Given the description of an element on the screen output the (x, y) to click on. 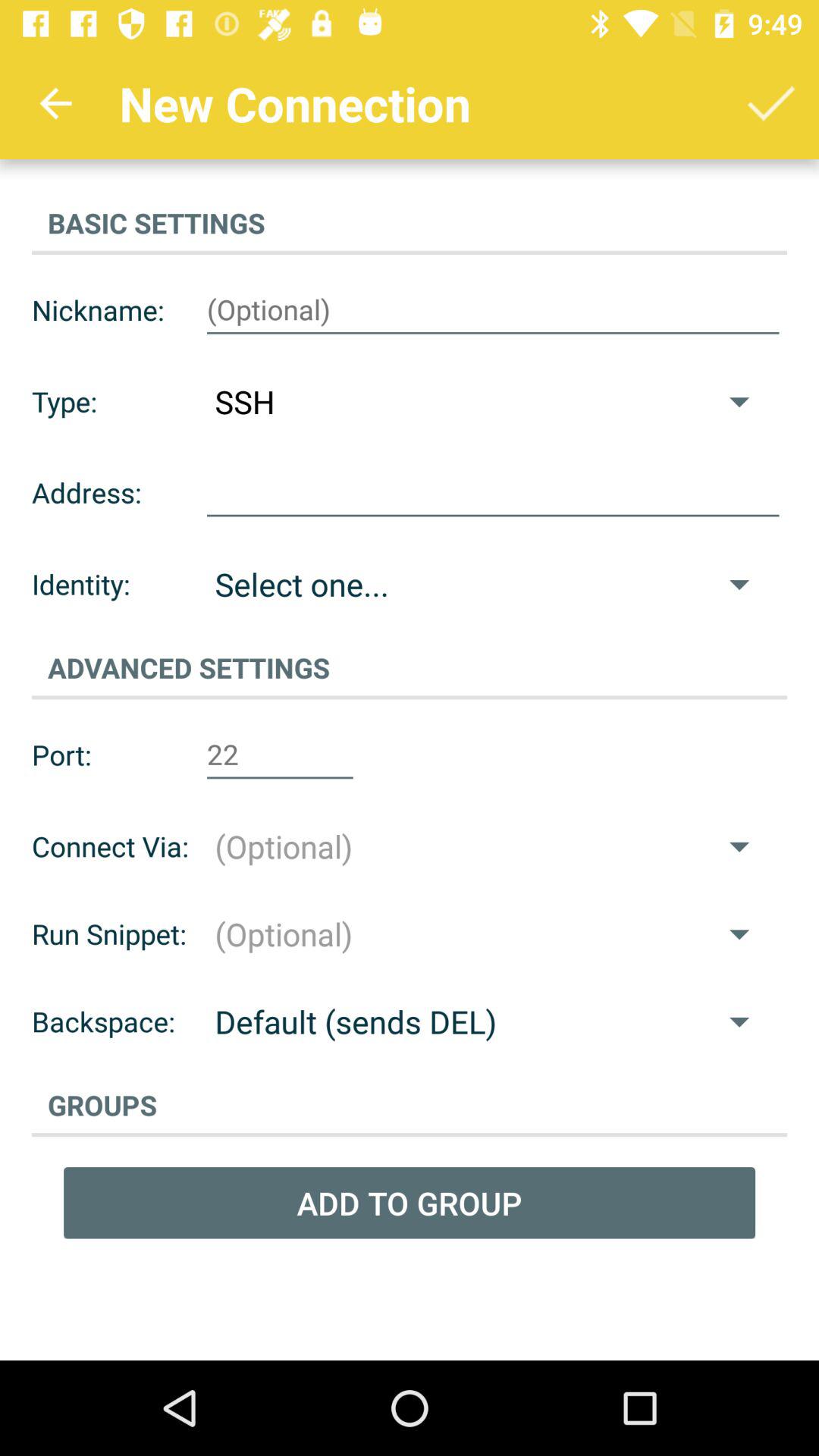
add optional nickname (493, 309)
